Given the description of an element on the screen output the (x, y) to click on. 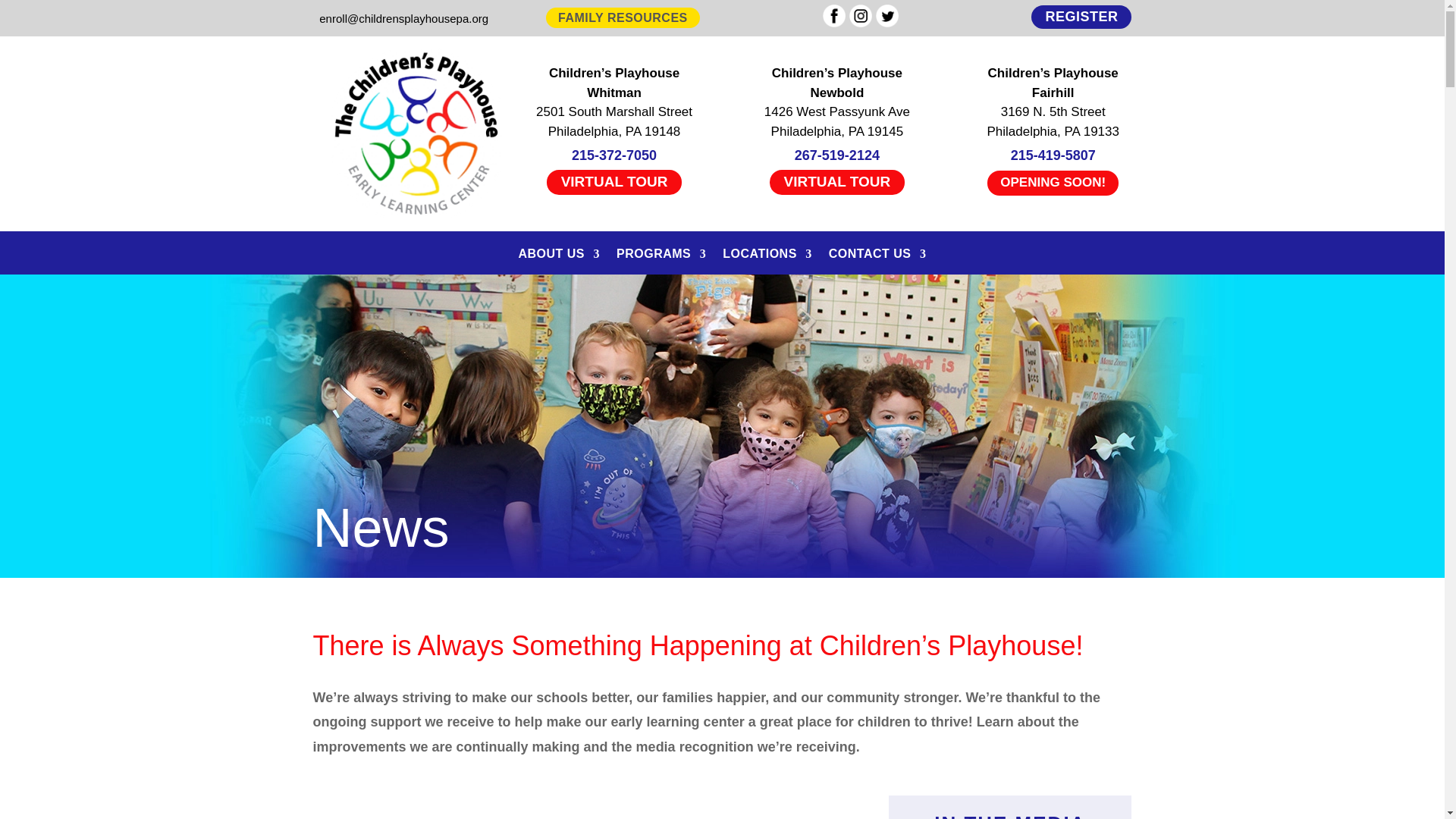
VIRTUAL TOUR (614, 181)
OPENING SOON! (1052, 182)
CONTACT US (877, 261)
2501 South Marshall Street (614, 111)
215-419-5807 (1053, 155)
PROGRAMS (660, 261)
215-372-7050 (614, 155)
ABOUT US (558, 261)
REGISTER (1080, 16)
Philadelphia, PA 19148 (614, 131)
1426 West Passyunk Ave (837, 111)
267-519-2124 (836, 155)
LOCATIONS (767, 261)
VIRTUAL TOUR (836, 181)
Philadelphia, PA 19145 (837, 131)
